Given the description of an element on the screen output the (x, y) to click on. 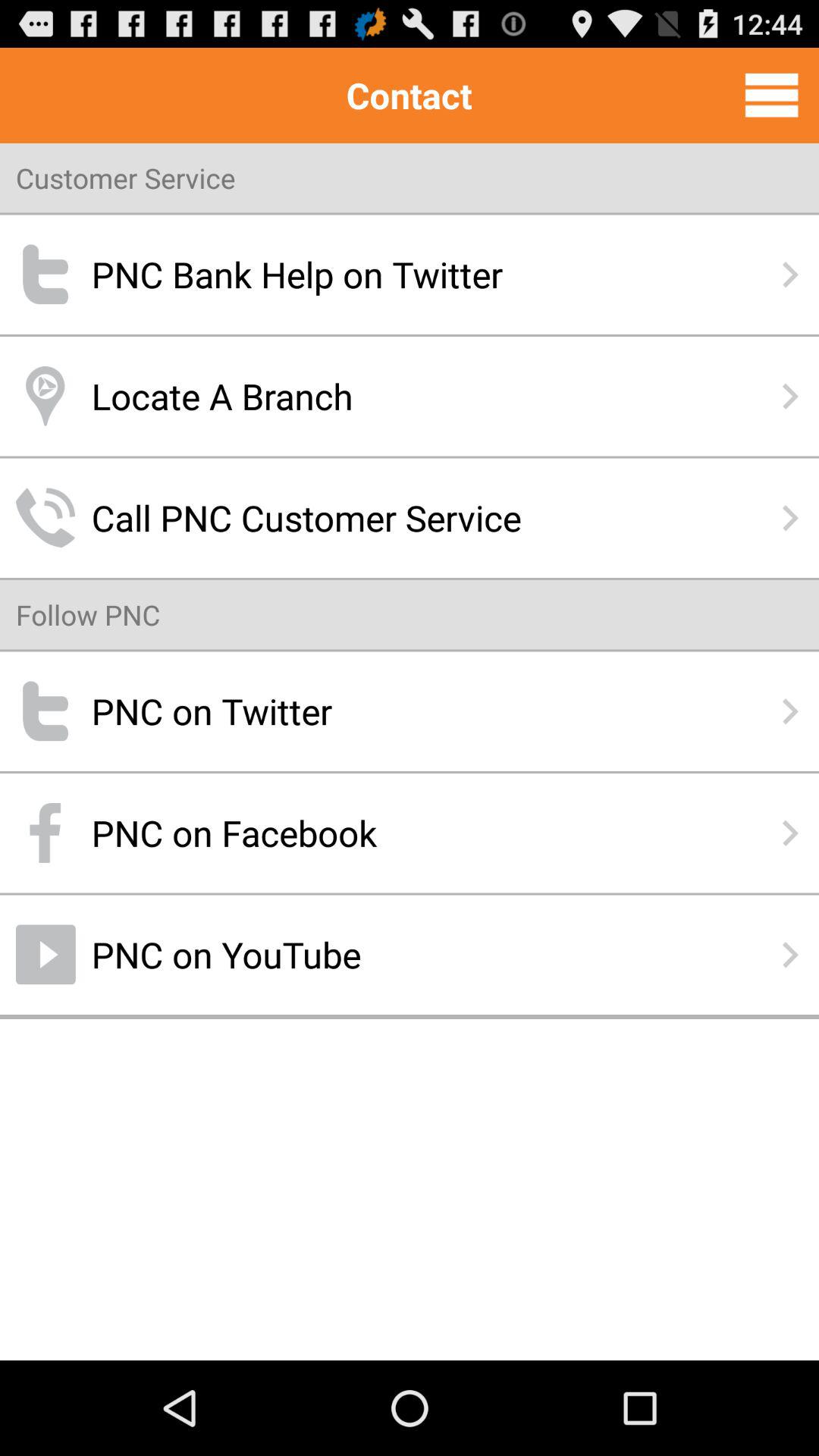
launch the icon next to the contact icon (771, 95)
